Given the description of an element on the screen output the (x, y) to click on. 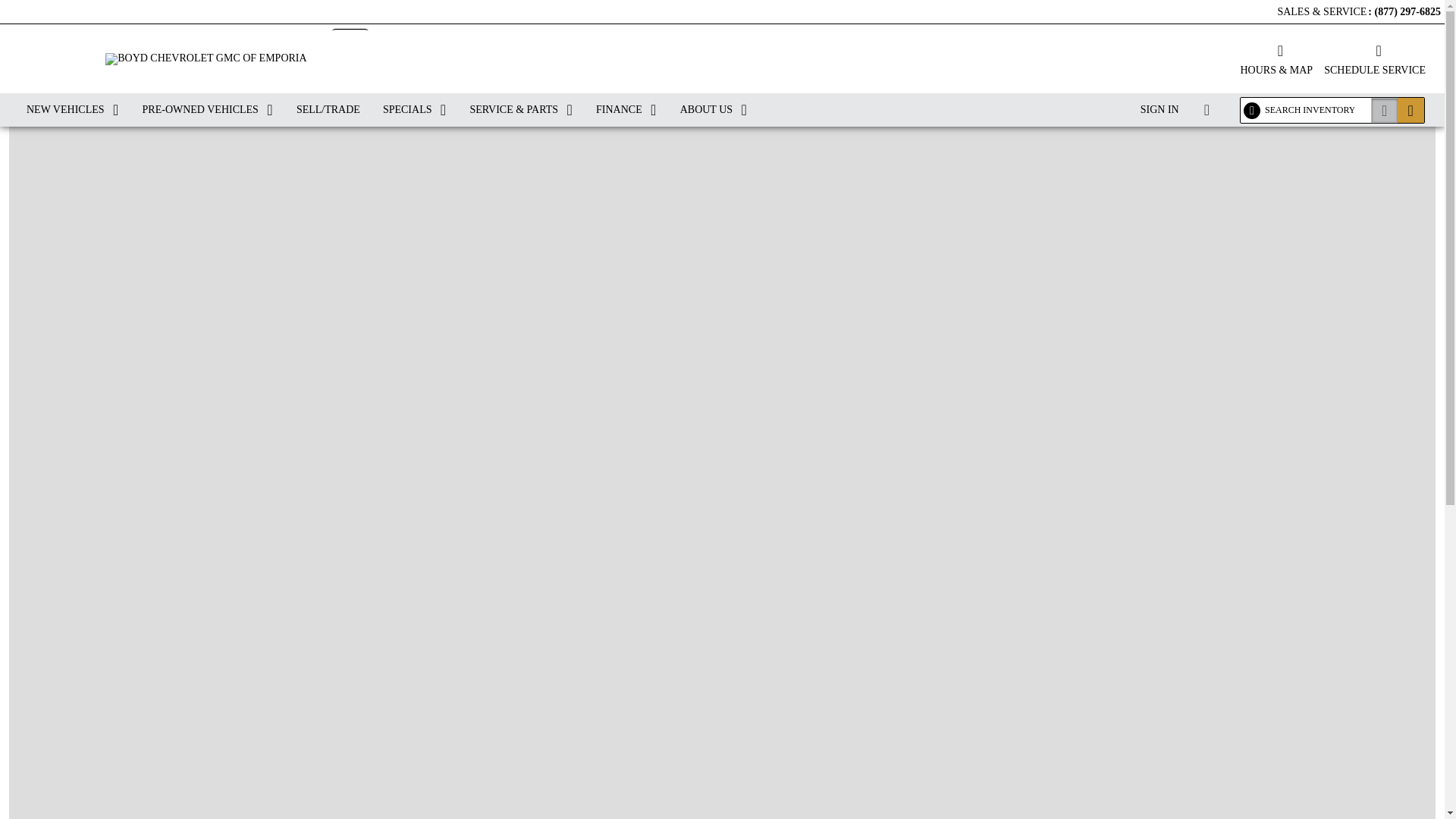
Search Anything (1384, 109)
Chevrolet (55, 56)
Search Inventory (1410, 109)
SCHEDULE SERVICE (1374, 58)
Skip to Main Content (45, 7)
Boyd Chevrolet GMC of Emporia (204, 59)
